Given the description of an element on the screen output the (x, y) to click on. 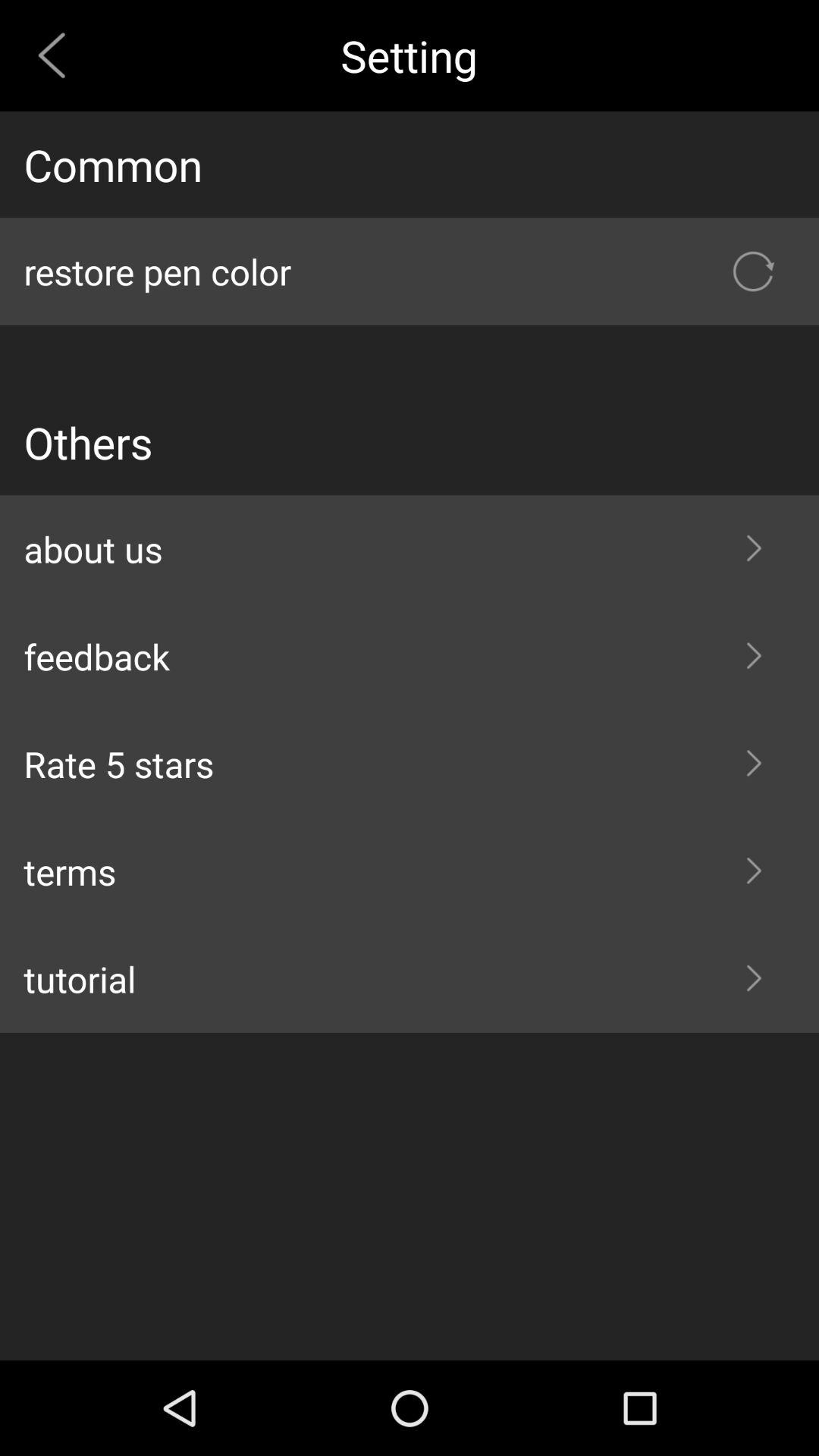
flip to feedback (409, 656)
